Given the description of an element on the screen output the (x, y) to click on. 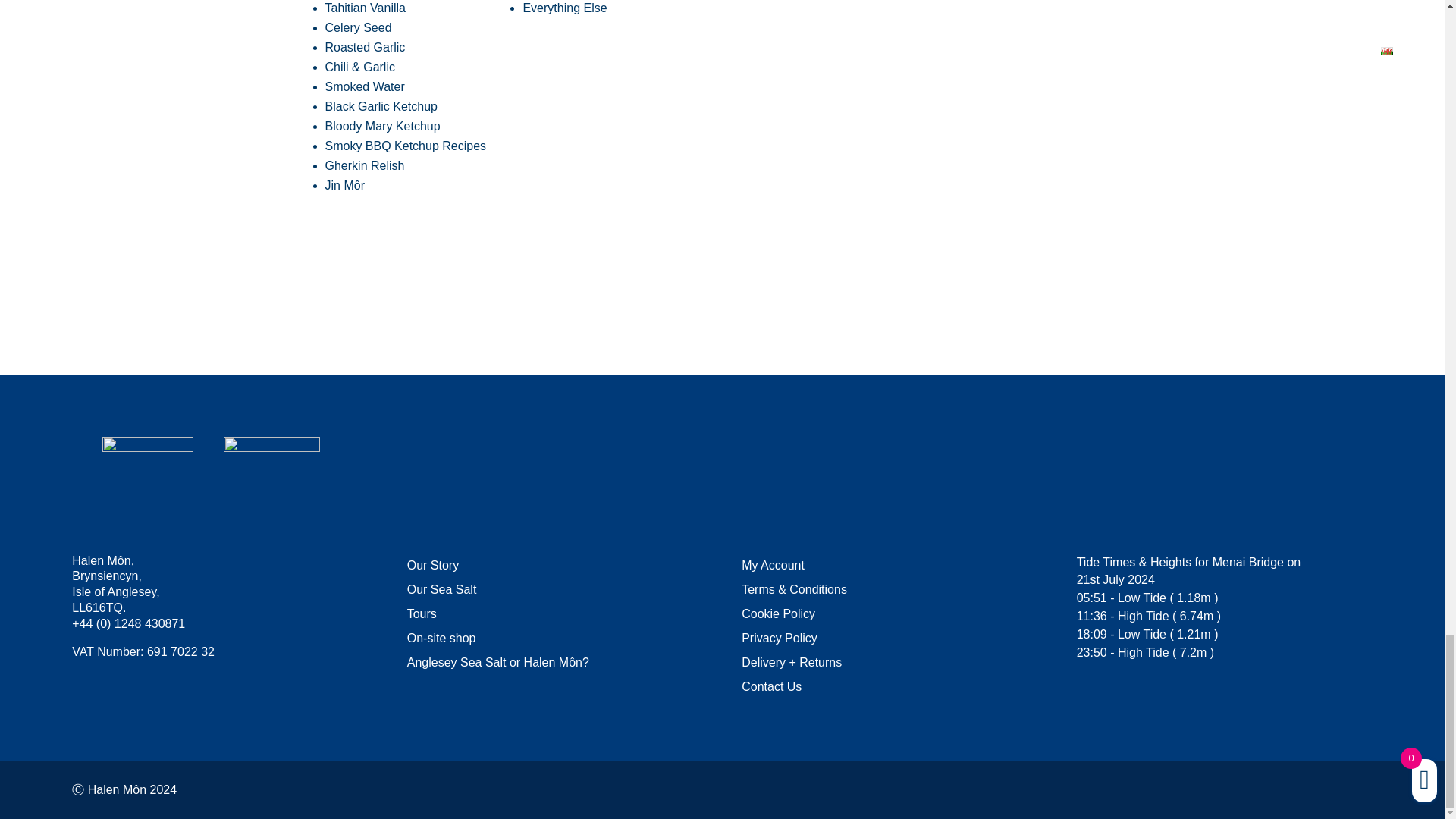
Menai Bridge tide times (1248, 562)
living wage (272, 474)
tide times (1106, 562)
